Given the description of an element on the screen output the (x, y) to click on. 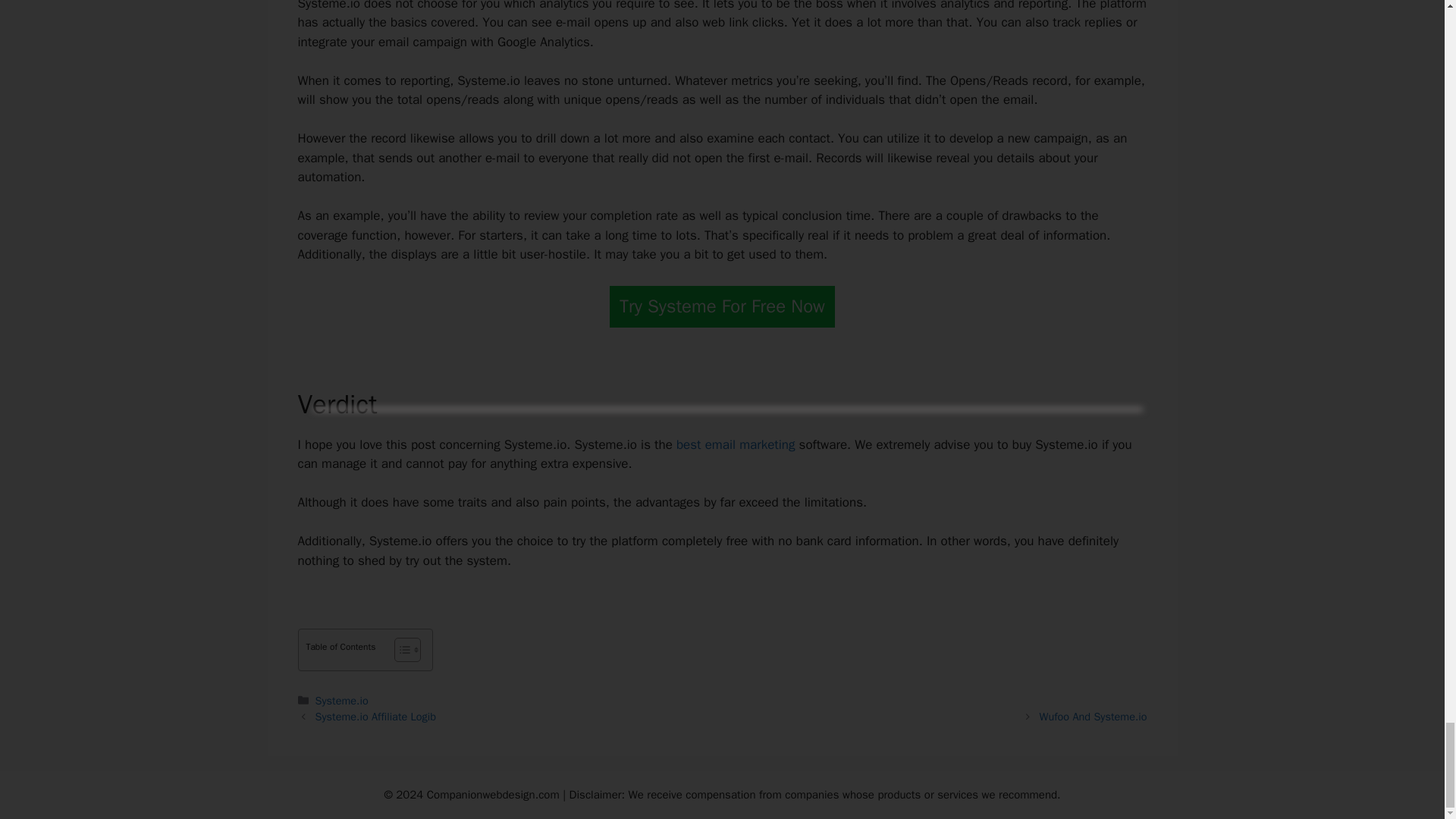
Systeme.io Affiliate Logib (375, 716)
Systeme.io (341, 700)
best email marketing (735, 444)
Try Systeme For Free Now (722, 306)
Wufoo And Systeme.io (1093, 716)
